Given the description of an element on the screen output the (x, y) to click on. 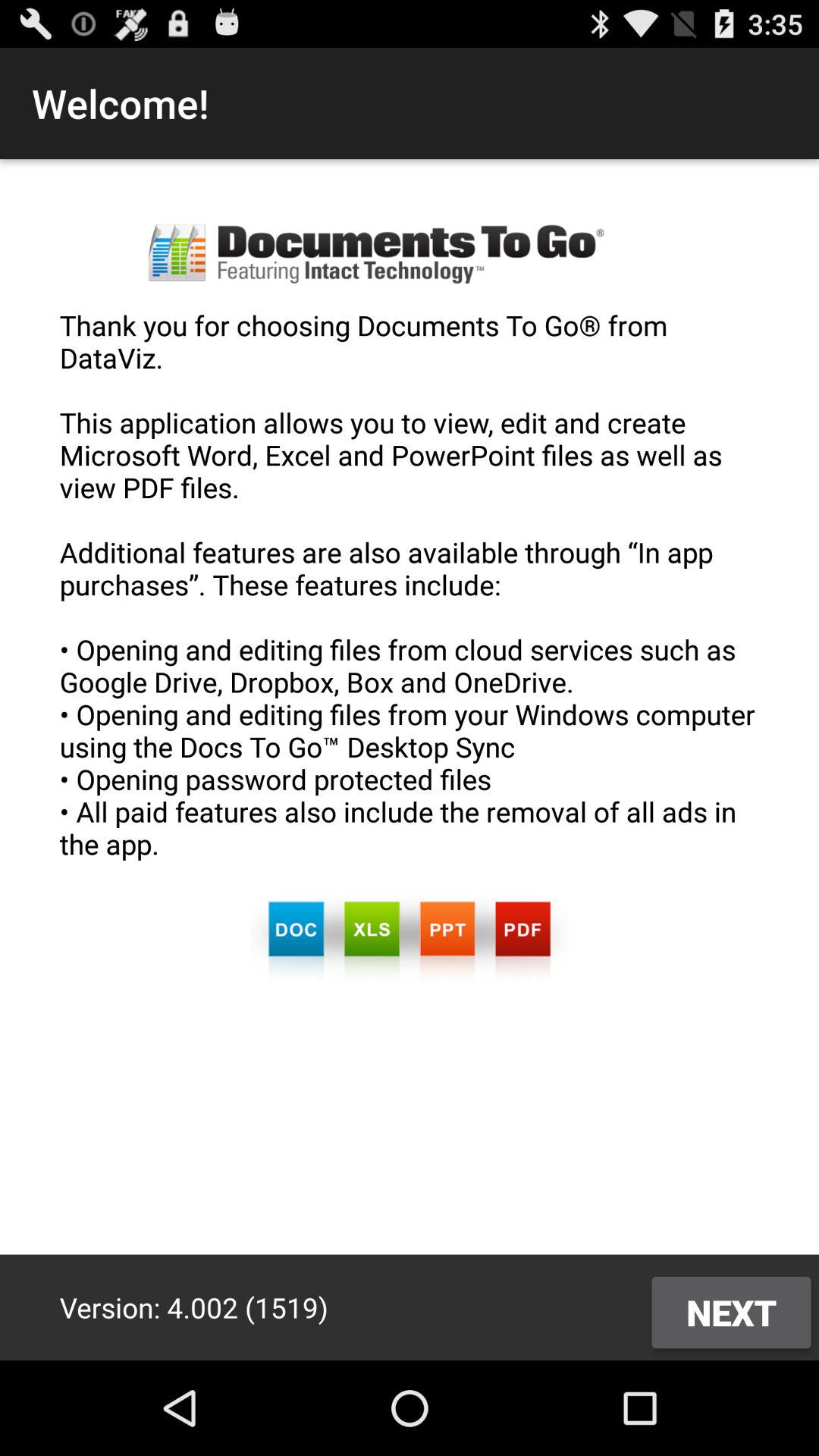
open icon at the bottom right corner (731, 1312)
